Given the description of an element on the screen output the (x, y) to click on. 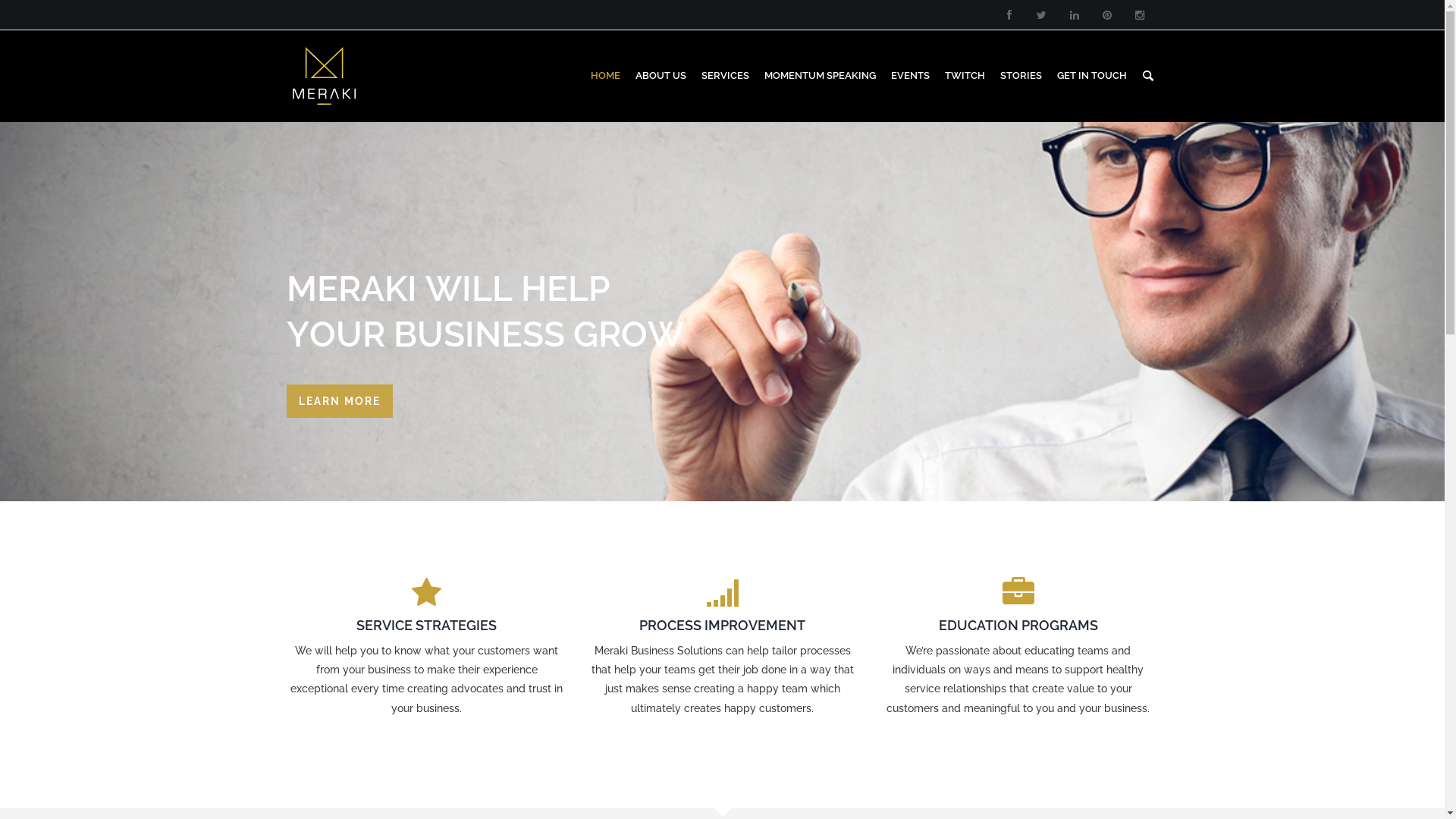
ABOUT US Element type: text (660, 75)
Meraki Business Solutions Element type: hover (323, 75)
instagram Element type: hover (1138, 15)
pinterest Element type: hover (1107, 15)
TWITCH Element type: text (964, 75)
twitter Element type: hover (1041, 15)
MOMENTUM SPEAKING Element type: text (819, 75)
GET IN TOUCH Element type: text (1091, 75)
facebook Element type: hover (1008, 15)
SERVICES Element type: text (724, 75)
STORIES Element type: text (1020, 75)
linkedin Element type: hover (1073, 15)
LEARN MORE Element type: text (339, 400)
EVENTS Element type: text (909, 75)
HOME Element type: text (604, 75)
